Given the description of an element on the screen output the (x, y) to click on. 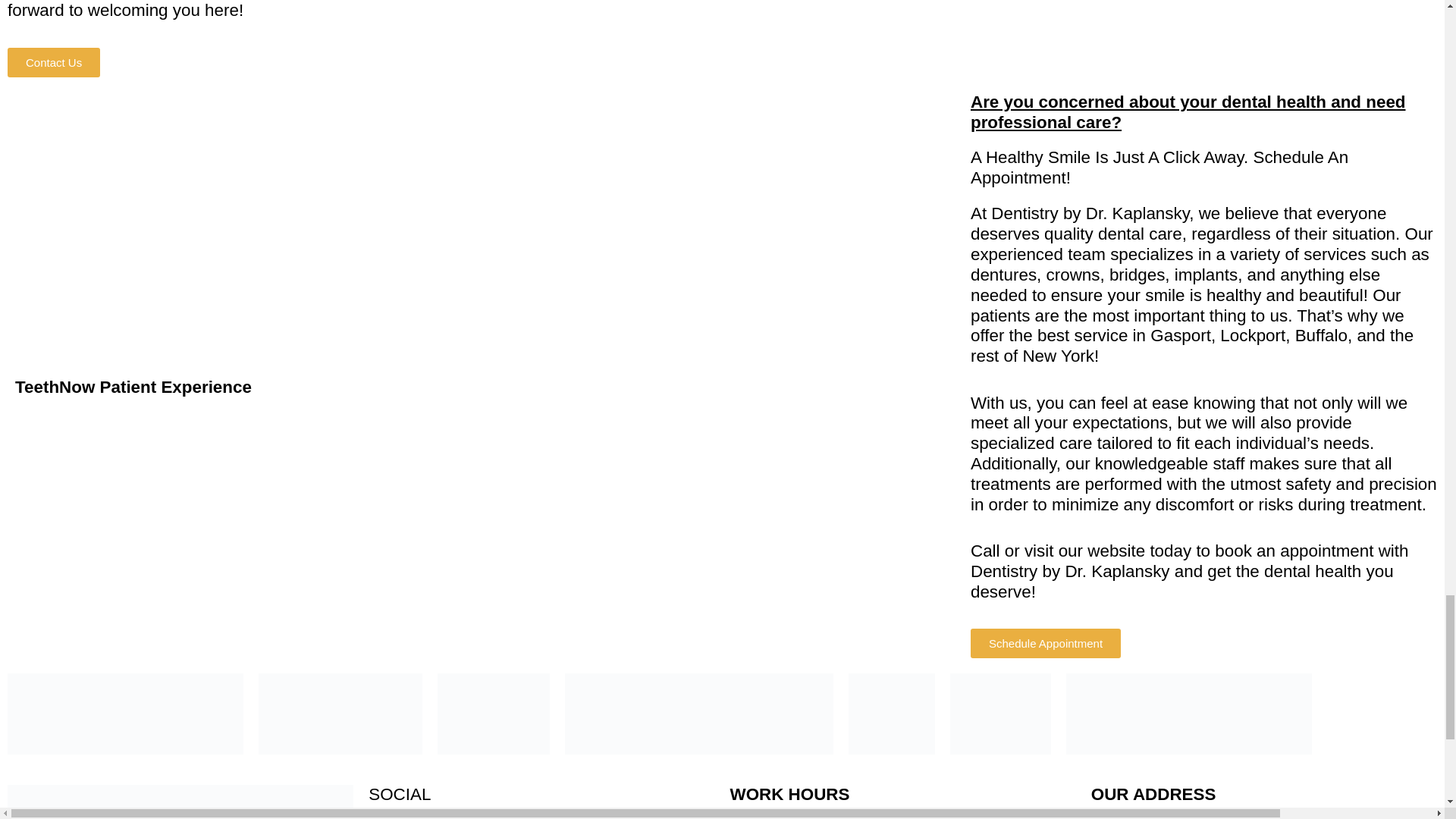
Schedule Appointment (1046, 643)
Ed V. 2 (240, 223)
Contact Us (53, 61)
